Given the description of an element on the screen output the (x, y) to click on. 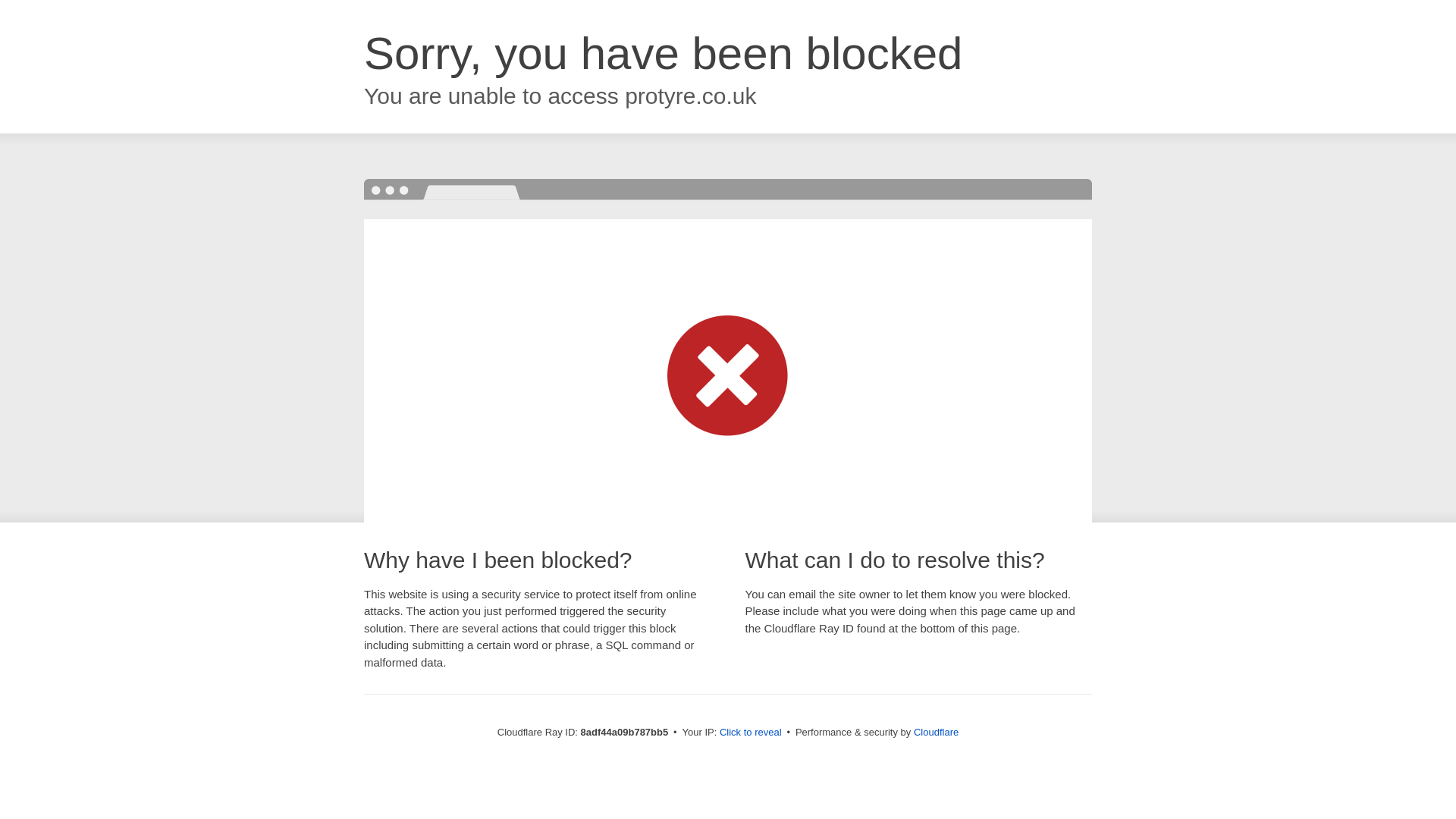
Click to reveal (750, 732)
Cloudflare (936, 731)
